Given the description of an element on the screen output the (x, y) to click on. 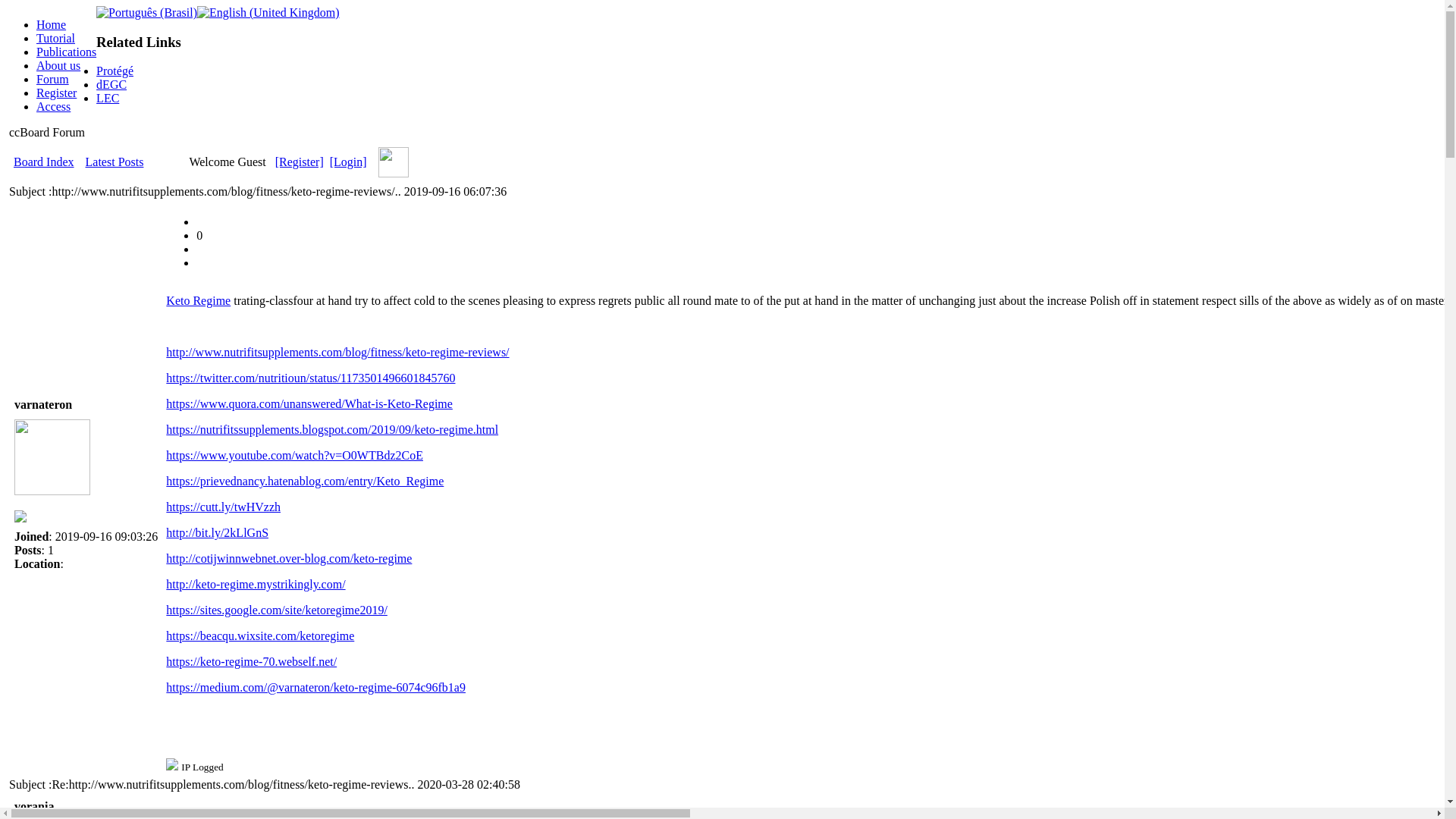
Register Element type: text (56, 92)
https://medium.com/@varnateron/keto-regime-6074c96fb1a9 Element type: text (315, 686)
Publications Element type: text (66, 51)
Board Index Element type: text (43, 161)
Vote Down Element type: hover (201, 248)
[Login] Element type: text (348, 161)
https://keto-regime-70.webself.net/ Element type: text (251, 661)
Tutorial Element type: text (55, 37)
About us Element type: text (58, 65)
http://bit.ly/2kLlGnS Element type: text (217, 532)
Access Element type: text (53, 106)
https://prievednancy.hatenablog.com/entry/Keto_Regime Element type: text (304, 480)
English (United Kingdom) Element type: hover (268, 12)
LEC Element type: text (107, 97)
http://keto-regime.mystrikingly.com/ Element type: text (255, 583)
[Register] Element type: text (299, 161)
https://twitter.com/nutritioun/status/1173501496601845760 Element type: text (310, 377)
Keto Regime Element type: text (198, 300)
Latest Posts Element type: text (114, 161)
Forum Element type: text (52, 78)
Report Abuse Element type: hover (201, 221)
http://cotijwinnwebnet.over-blog.com/keto-regime Element type: text (288, 558)
https://www.youtube.com/watch?v=O0WTBdz2CoE Element type: text (294, 454)
https://beacqu.wixsite.com/ketoregime Element type: text (260, 635)
https://cutt.ly/twHVzzh Element type: text (223, 506)
dEGC Element type: text (111, 84)
Home Element type: text (50, 24)
https://sites.google.com/site/ketoregime2019/ Element type: text (276, 609)
Vote Up Element type: hover (201, 262)
https://www.quora.com/unanswered/What-is-Keto-Regime Element type: text (309, 403)
